Given the description of an element on the screen output the (x, y) to click on. 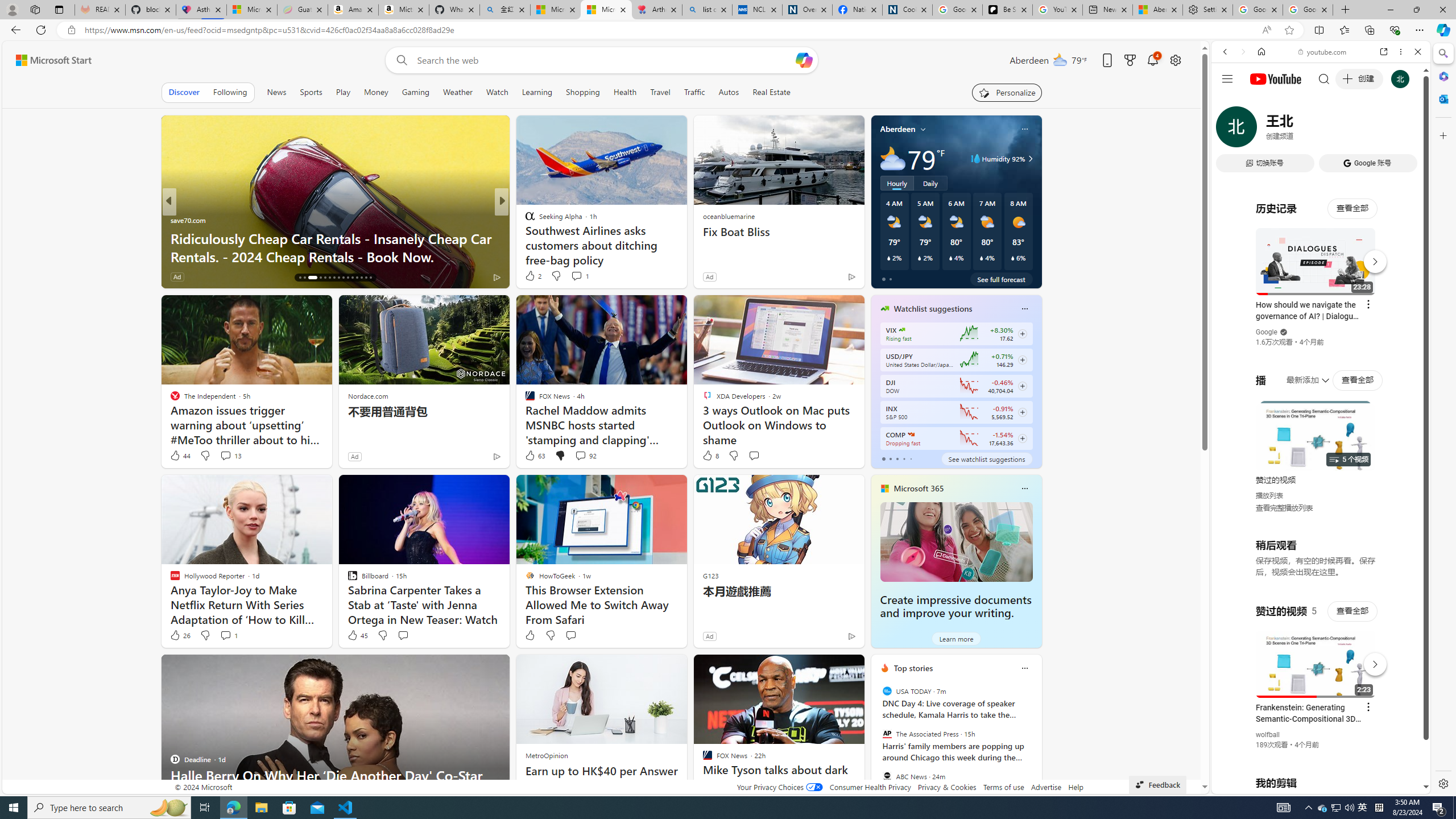
Shopping (582, 92)
App bar (728, 29)
Traffic (694, 92)
Start the conversation (570, 635)
Business Insider (524, 219)
AutomationID: tab-20 (324, 277)
Your Privacy Choices (779, 786)
Close Outlook pane (1442, 98)
AutomationID: tab-21 (329, 277)
See more (850, 668)
See full forecast (1000, 278)
Start the conversation (570, 634)
